Given the description of an element on the screen output the (x, y) to click on. 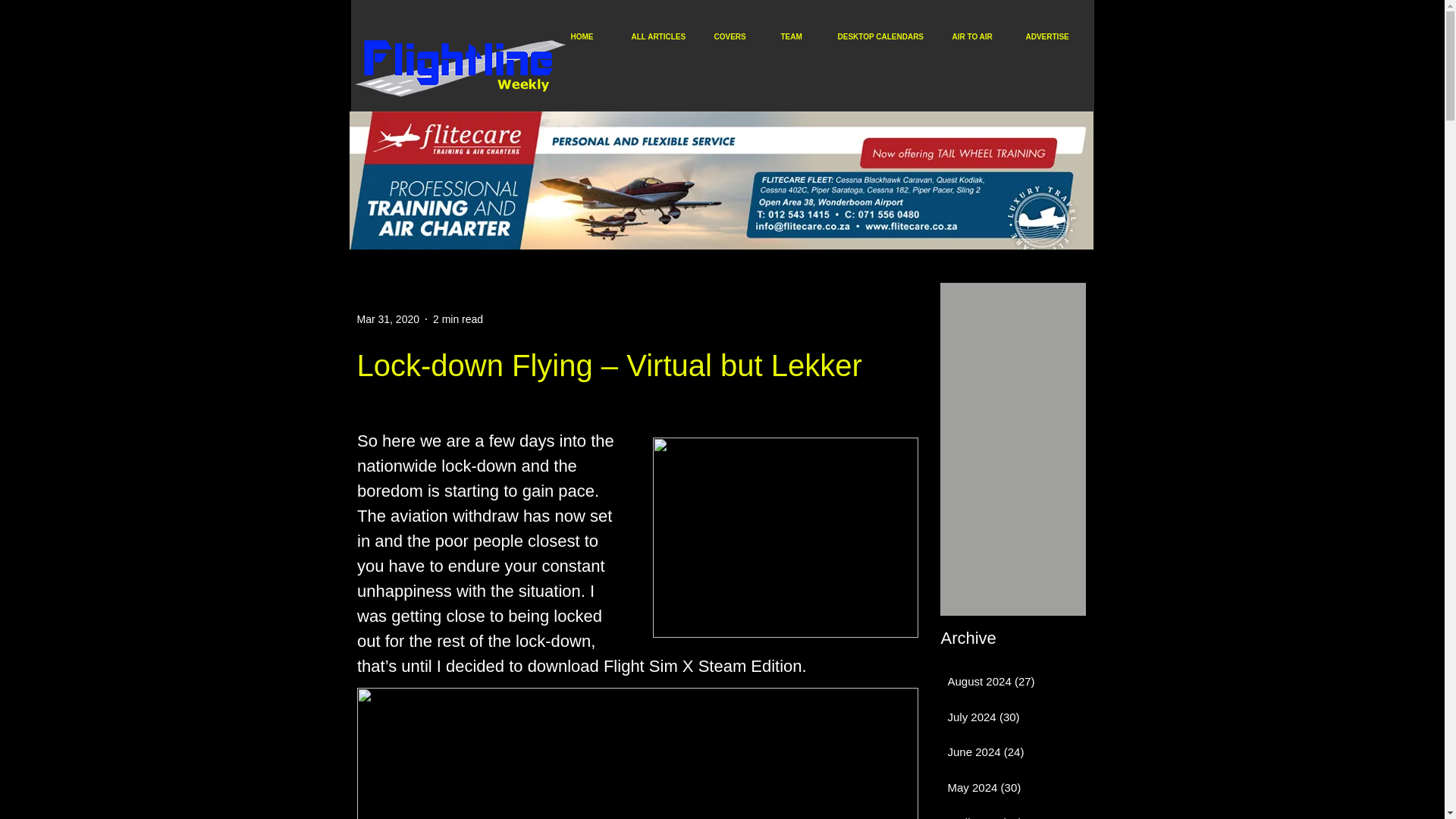
2 min read (457, 318)
ALL ARTICLES (664, 36)
COVERS (739, 36)
HOME (592, 36)
Mar 31, 2020 (387, 318)
DESKTOP CALENDARS (886, 36)
TEAM (801, 36)
ADVERTISE (1053, 36)
AIR TO AIR (980, 36)
